Given the description of an element on the screen output the (x, y) to click on. 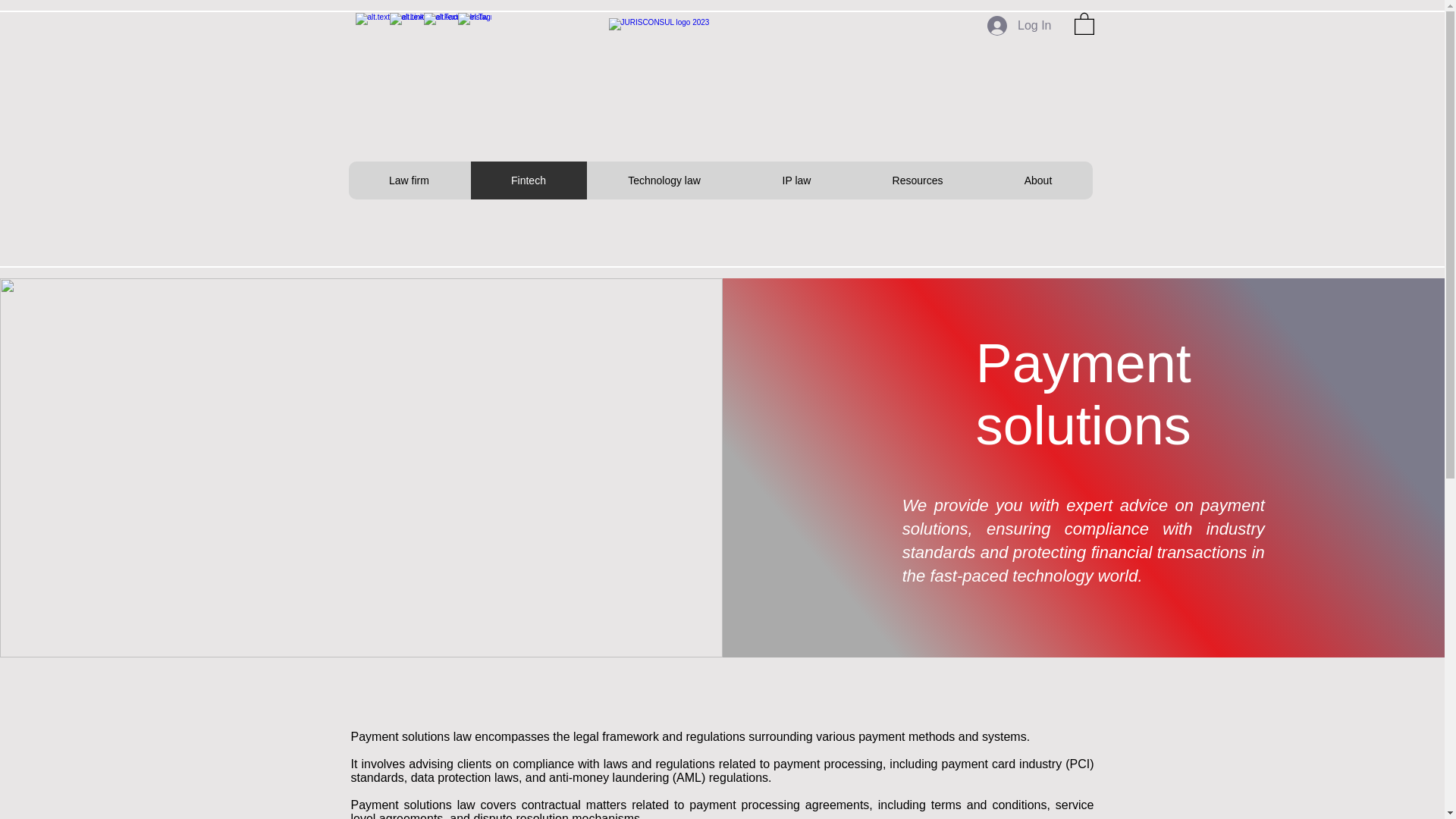
Resources (916, 180)
Technology law (663, 180)
Jurisconsl law firm logo 2023 (718, 69)
Log In (1018, 25)
Law firm (409, 180)
IP law (796, 180)
Fintech (528, 180)
